Given the description of an element on the screen output the (x, y) to click on. 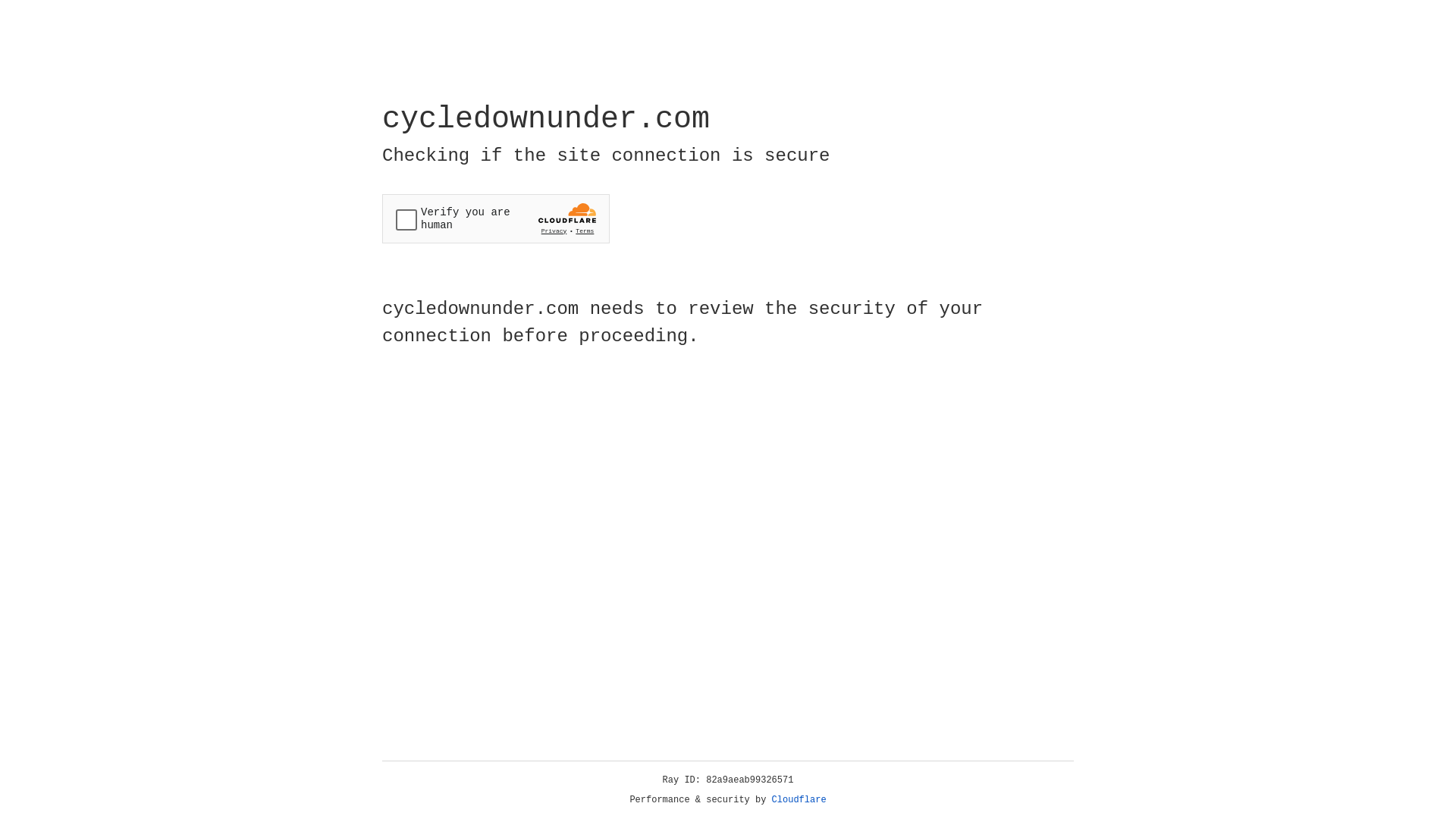
Widget containing a Cloudflare security challenge Element type: hover (495, 218)
Cloudflare Element type: text (798, 799)
